Given the description of an element on the screen output the (x, y) to click on. 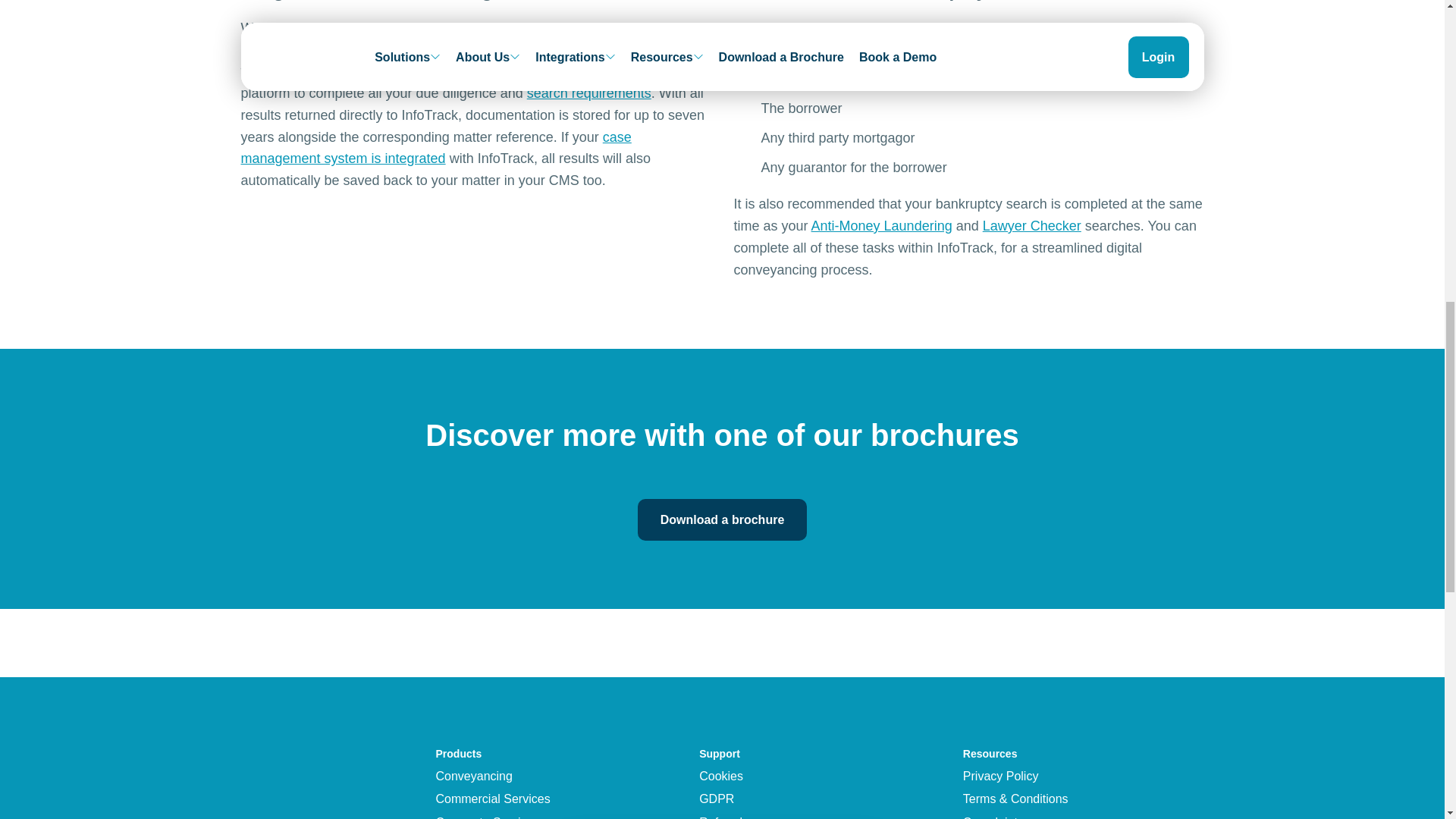
Download Brochures (793, 51)
Lawyer Checker (1031, 225)
Integration (436, 147)
Property Searches (588, 92)
Download a brochure (722, 519)
AML Identity checks (881, 225)
